Given the description of an element on the screen output the (x, y) to click on. 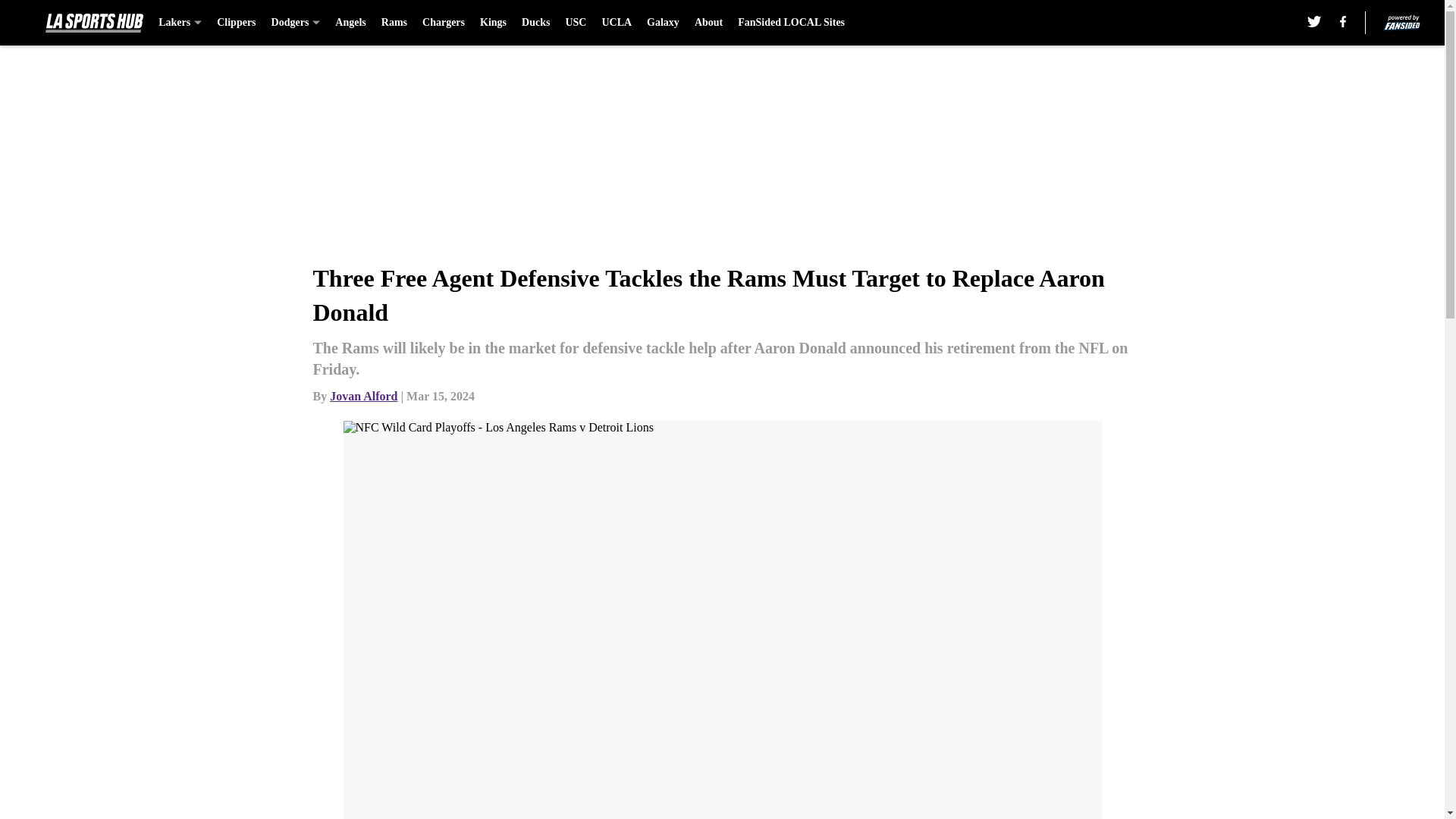
Rams (394, 22)
About (708, 22)
Galaxy (662, 22)
Kings (493, 22)
Angels (349, 22)
Ducks (535, 22)
UCLA (616, 22)
Clippers (236, 22)
Chargers (443, 22)
USC (575, 22)
Jovan Alford (363, 395)
FanSided LOCAL Sites (791, 22)
